Given the description of an element on the screen output the (x, y) to click on. 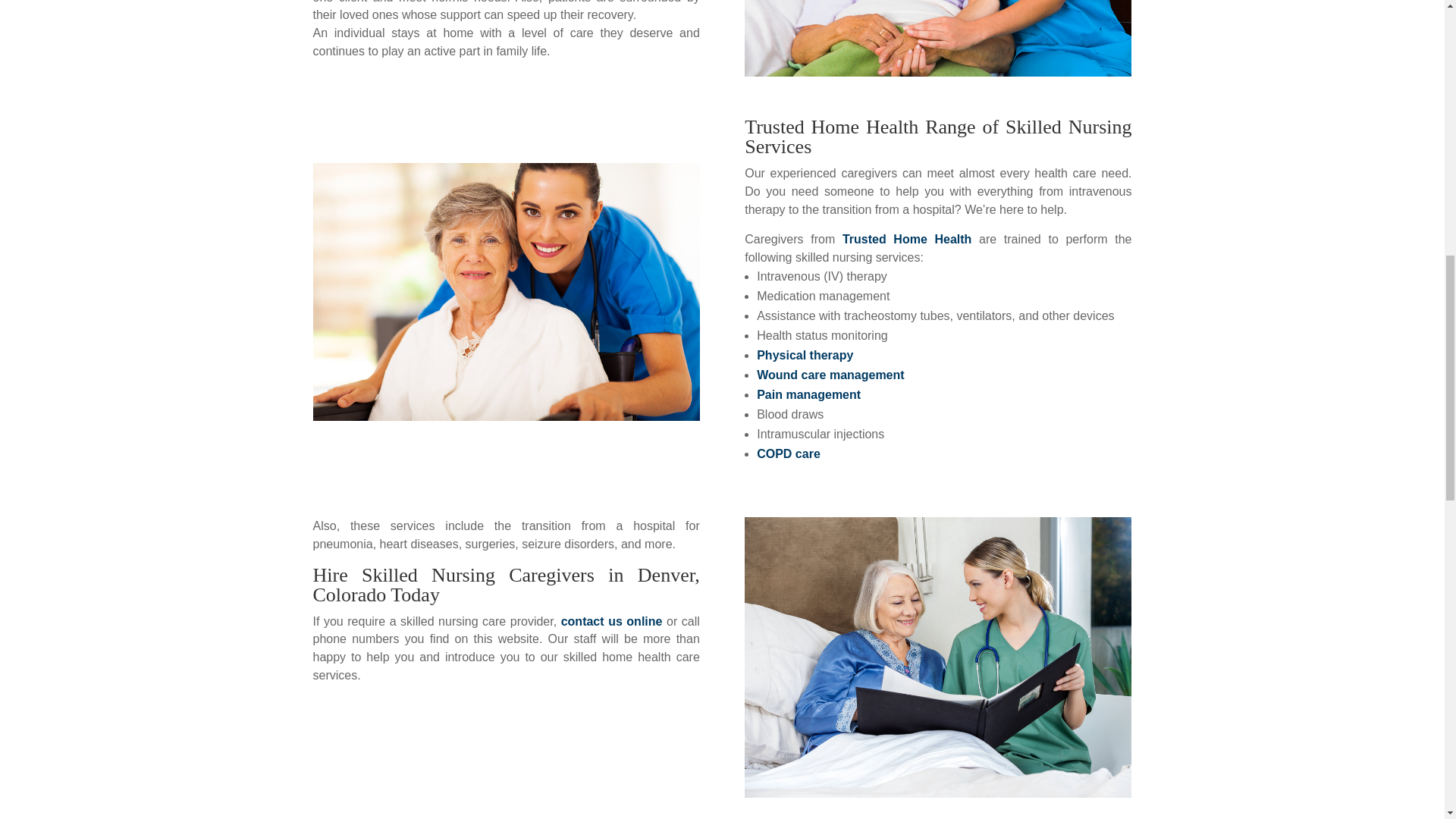
Physical therapy (805, 354)
Trusted Home Health (907, 238)
COPD care (789, 453)
Wound care management (830, 374)
contact us online (611, 621)
Skilled Nursing in Denver, CO (937, 38)
Skilled Nursing in Colorado (505, 291)
Pain management (808, 394)
Skilled Nursing in Colorado (937, 656)
